Given the description of an element on the screen output the (x, y) to click on. 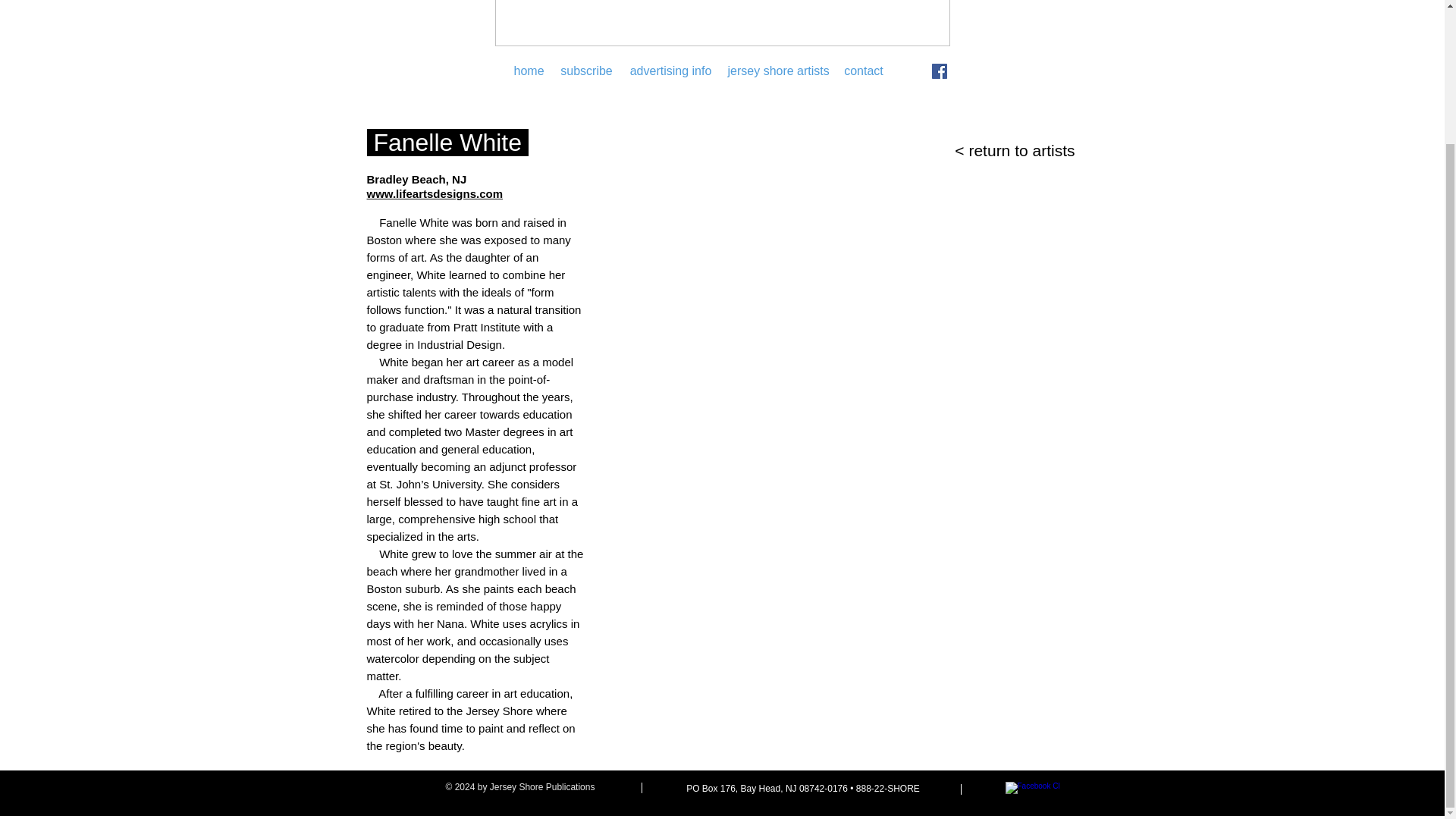
subscribe (586, 71)
www.lifeartsdesigns.com (434, 195)
contact (863, 71)
jersey shore artists (777, 71)
advertising info (670, 71)
home (528, 71)
